Given the description of an element on the screen output the (x, y) to click on. 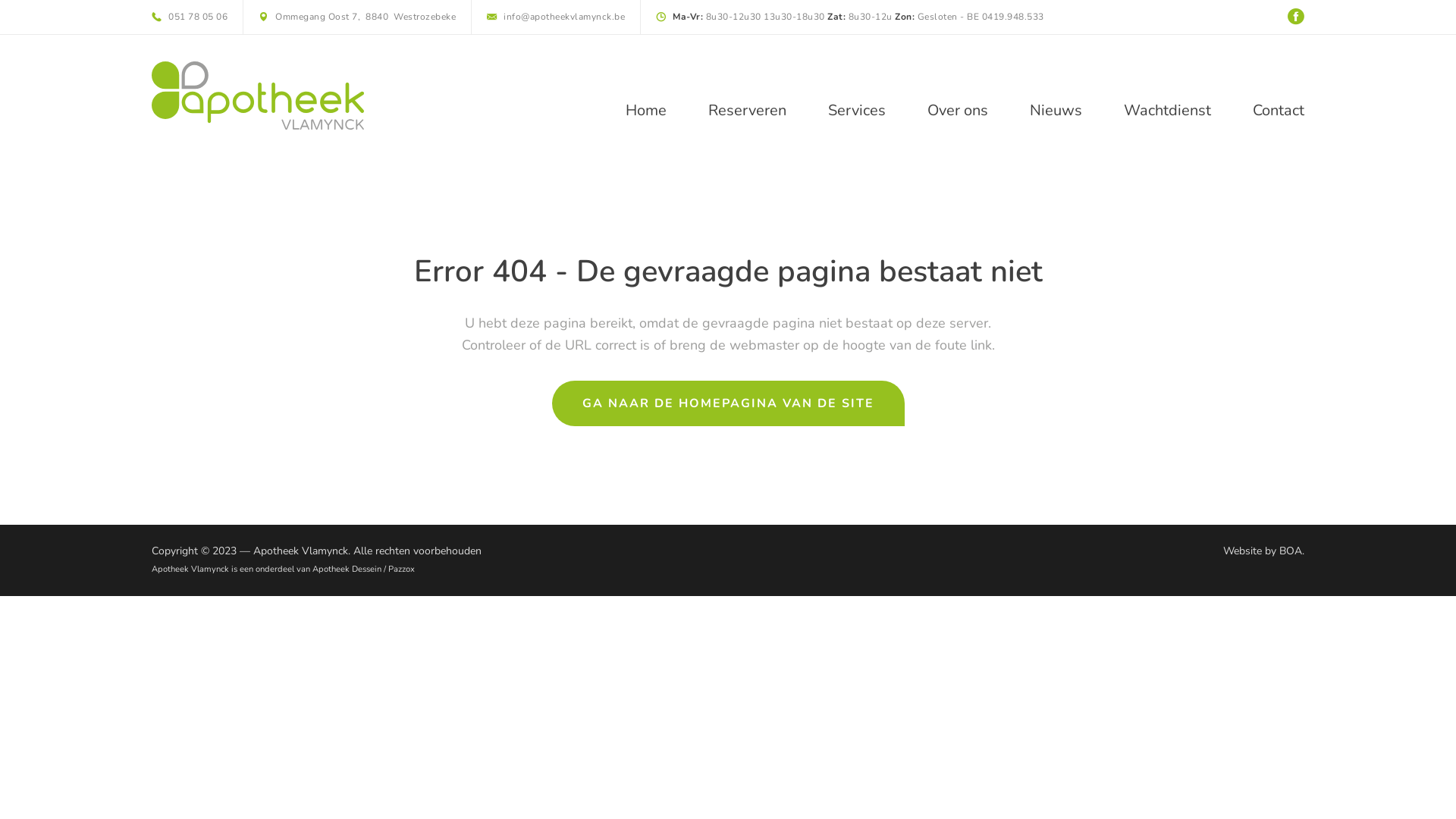
Services Element type: text (856, 110)
BOA. Element type: text (1291, 550)
Contact Element type: text (1278, 110)
Nieuws Element type: text (1055, 110)
Reserveren Element type: text (747, 110)
051 78 05 06 Element type: text (189, 16)
Home Element type: text (645, 110)
Ommegang Oost 7,  8840  Westrozebeke Element type: text (356, 16)
Wachtdienst Element type: text (1167, 110)
Over ons Element type: text (957, 110)
info@apotheekvlamynck.be Element type: text (555, 16)
Apotheek Dessein Element type: text (346, 568)
GA NAAR DE HOMEPAGINA VAN DE SITE Element type: text (728, 403)
Pazzox Element type: text (401, 568)
